Given the description of an element on the screen output the (x, y) to click on. 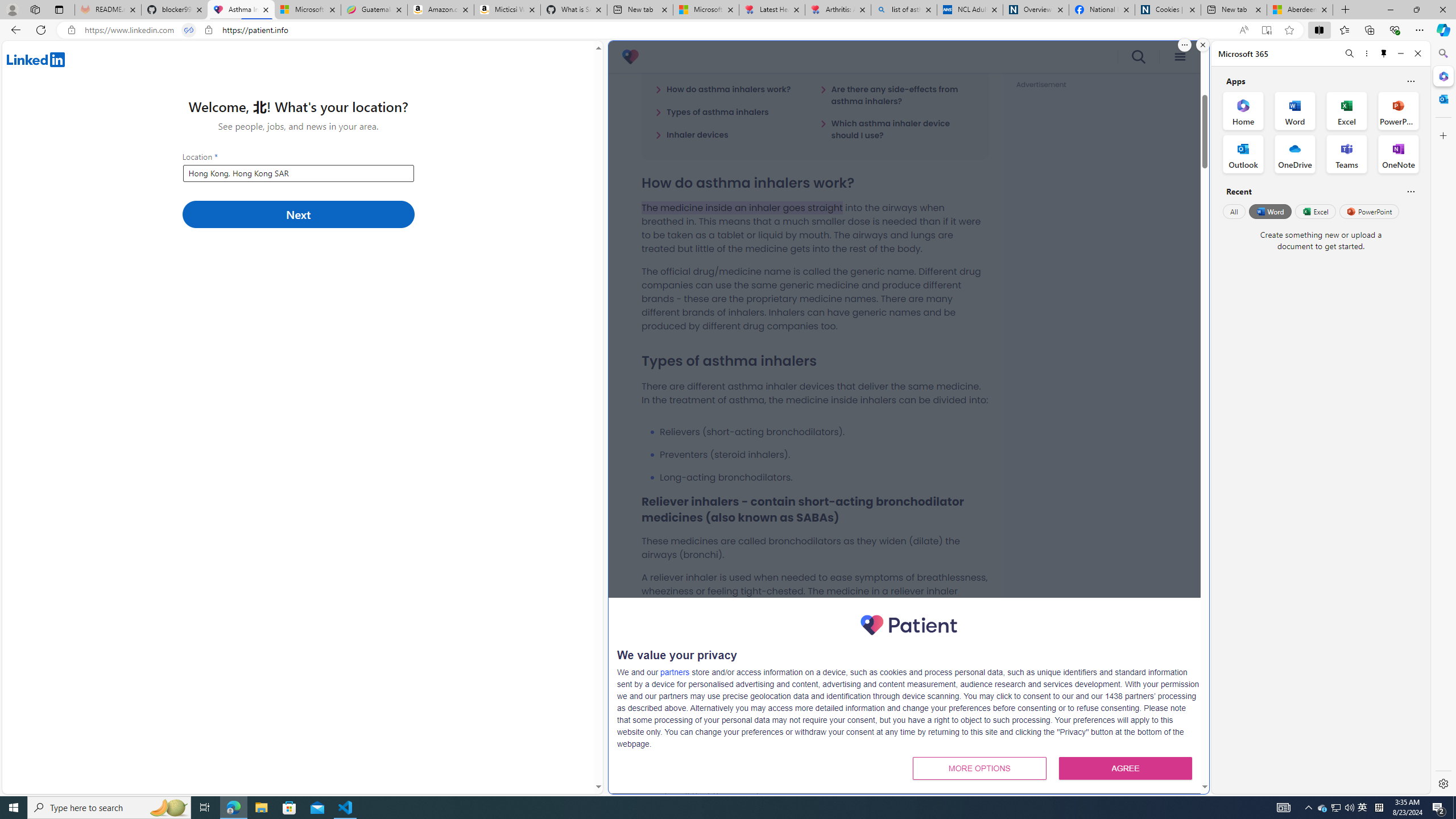
OneDrive Office App (1295, 154)
partners (675, 672)
Inhaler devices (691, 134)
Are there any side-effects from asthma inhalers? (897, 94)
Aberdeen, Hong Kong SAR hourly forecast | Microsoft Weather (1300, 9)
menu icon (1179, 56)
terbutaline (940, 640)
